Given the description of an element on the screen output the (x, y) to click on. 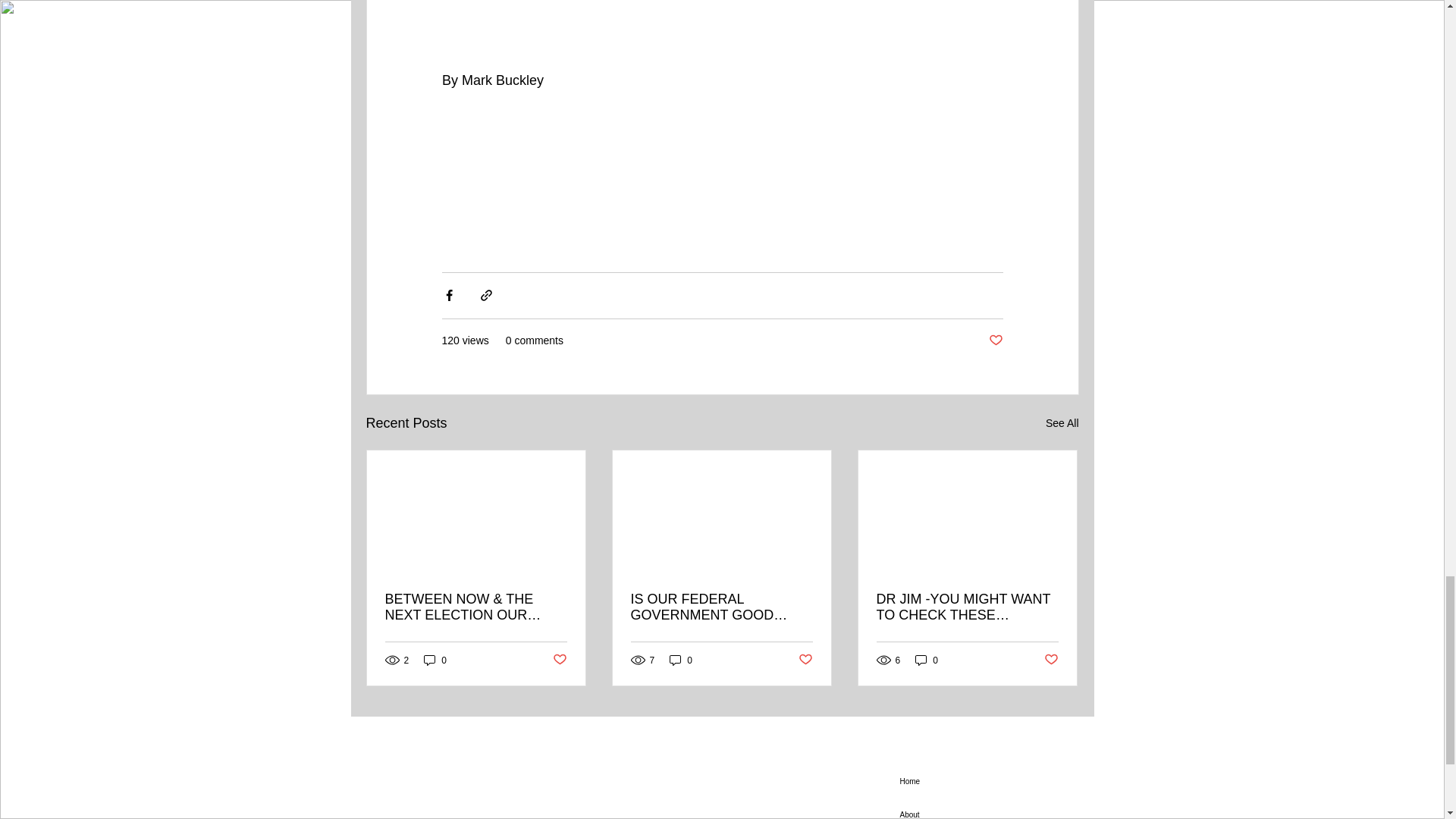
Post not marked as liked (995, 340)
About (983, 808)
Post not marked as liked (558, 659)
Home (983, 780)
0 (435, 659)
0 (926, 659)
0 (681, 659)
Post not marked as liked (804, 659)
Post not marked as liked (1050, 659)
See All (1061, 423)
